Given the description of an element on the screen output the (x, y) to click on. 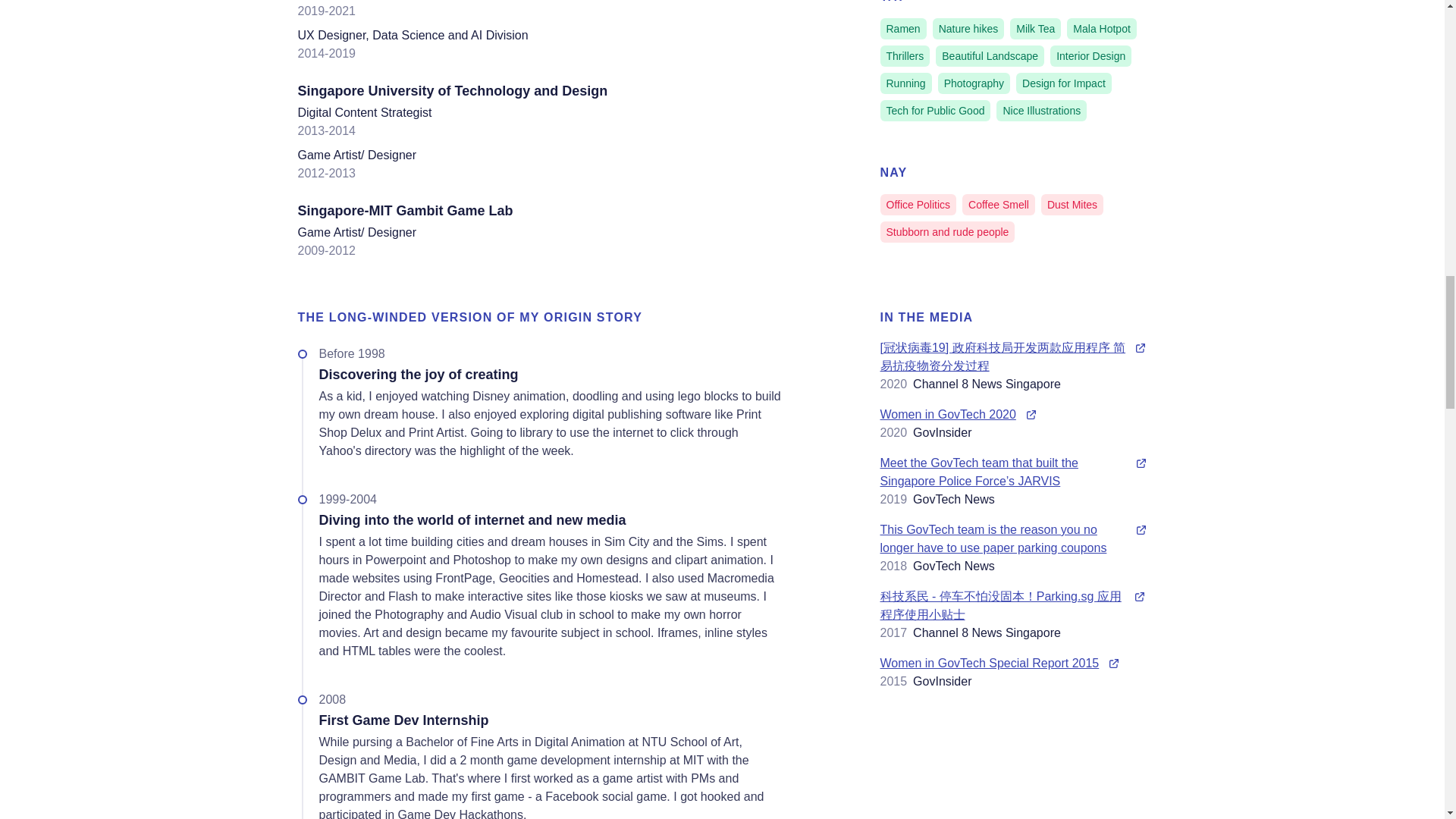
Women in GovTech 2020 (1013, 414)
Women in GovTech Special Report 2015 (1013, 663)
